Given the description of an element on the screen output the (x, y) to click on. 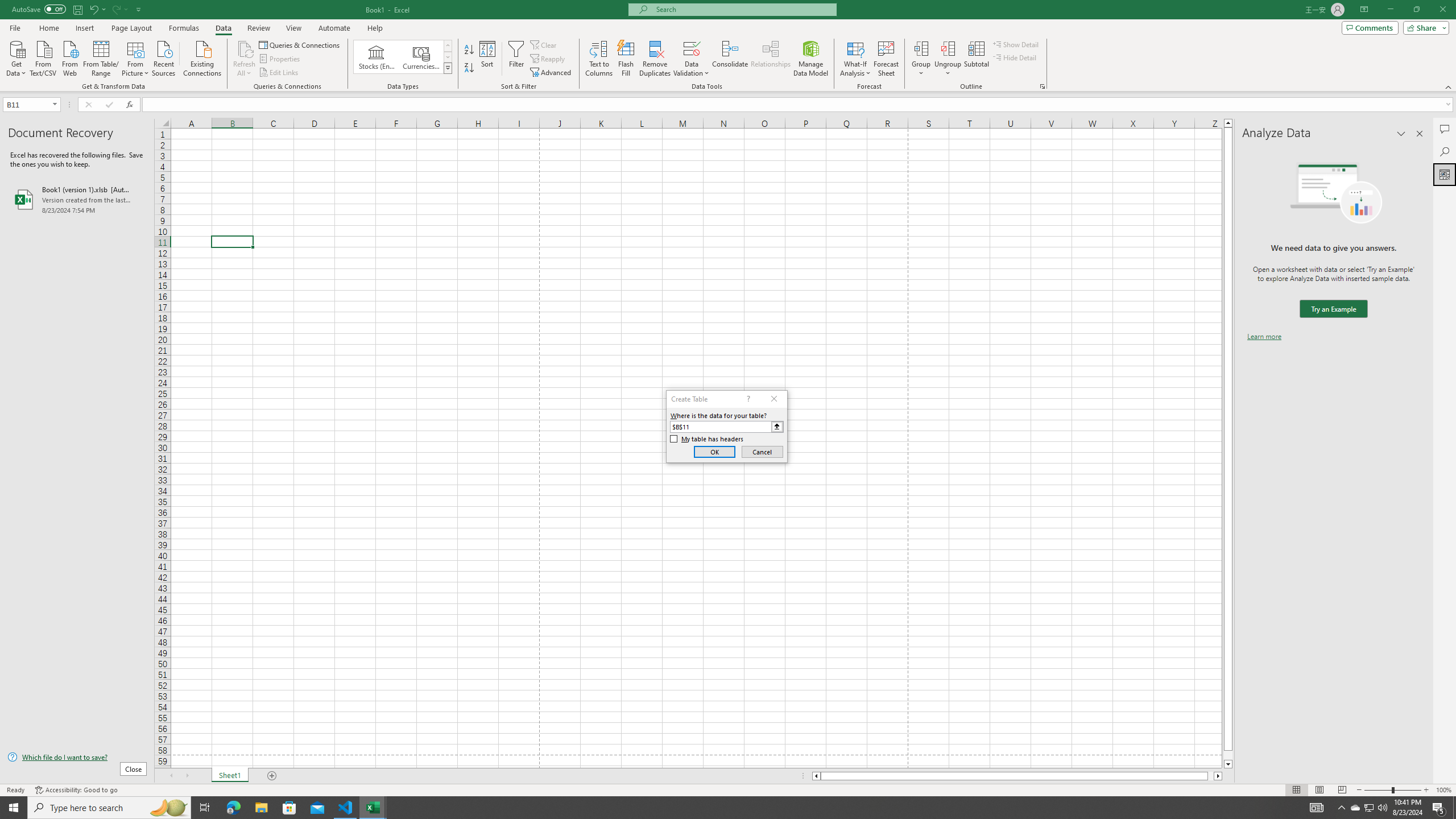
Remove Duplicates (654, 58)
Manage Data Model (810, 58)
Flash Fill (625, 58)
Filter (515, 58)
Edit Links (279, 72)
